Given the description of an element on the screen output the (x, y) to click on. 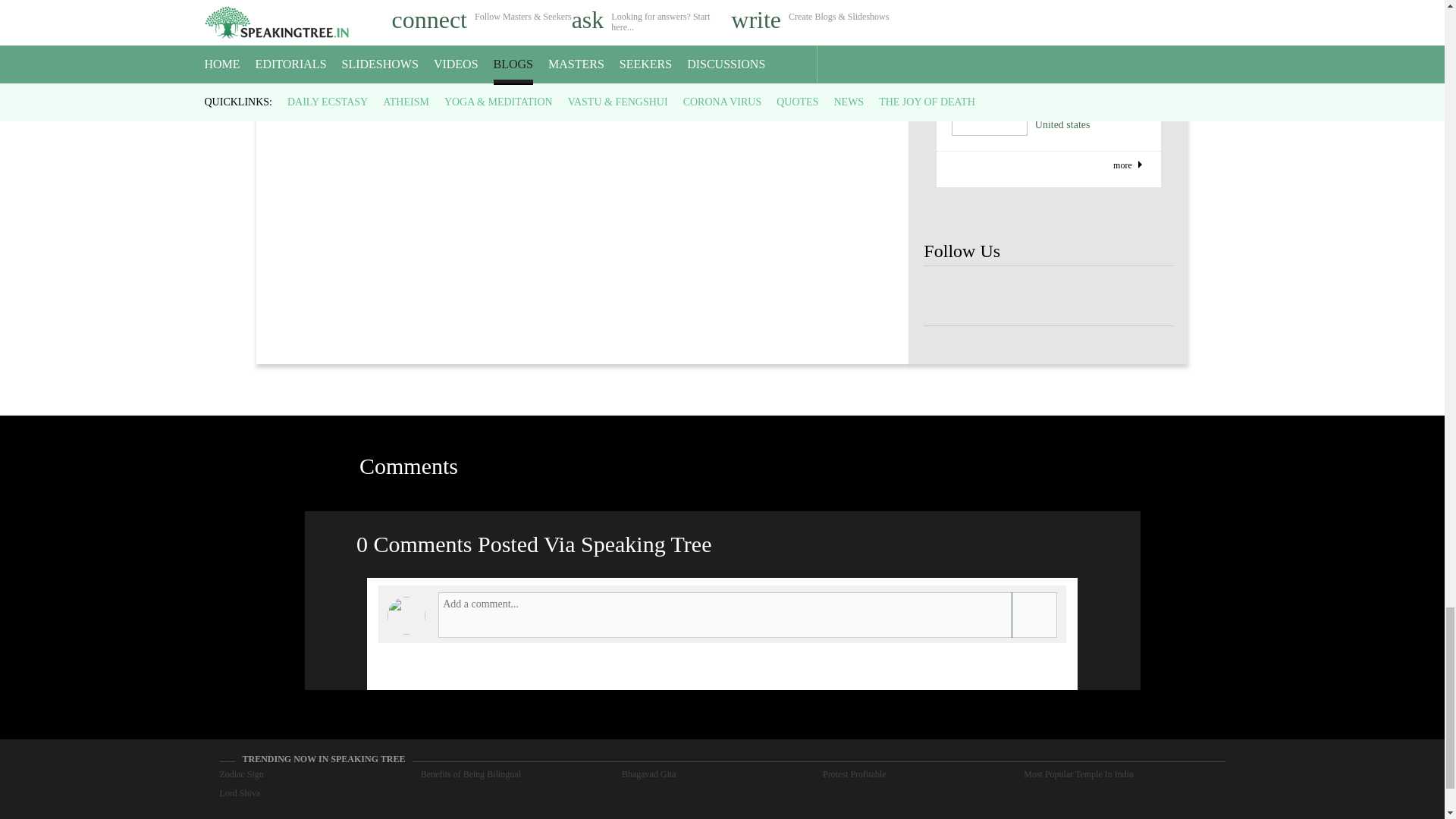
Speaking Tree FaceBook (1147, 296)
Speaking Tree FaceBook (948, 296)
Speaking Tree FaceBook (1099, 296)
Speaking Tree FaceBook (998, 296)
Speaking Tree FaceBook (1048, 296)
